Given the description of an element on the screen output the (x, y) to click on. 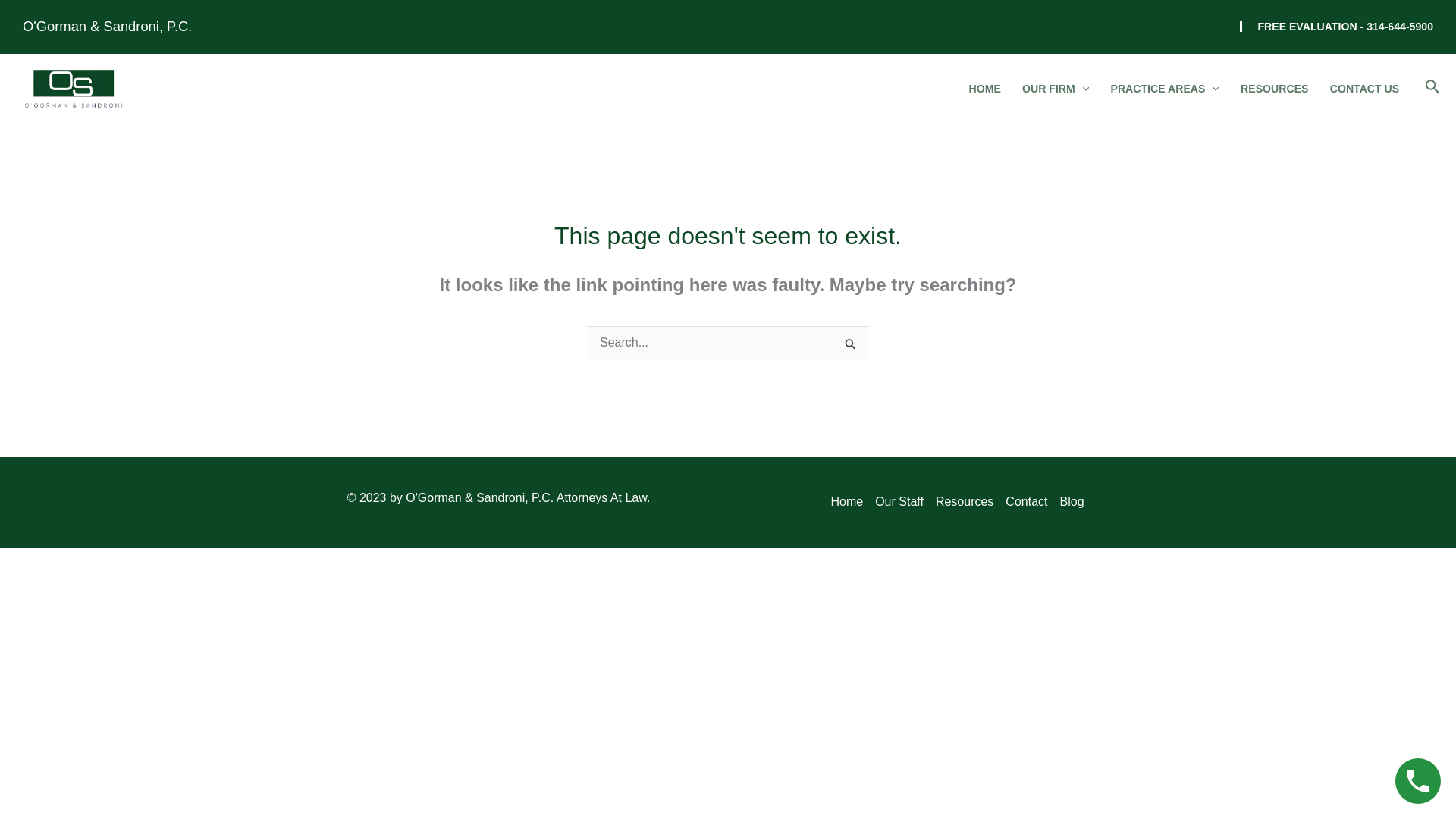
HOME (984, 88)
PRACTICE AREAS (1164, 88)
CONTACT US (1364, 88)
OUR FIRM (1055, 88)
RESOURCES (1274, 88)
